Given the description of an element on the screen output the (x, y) to click on. 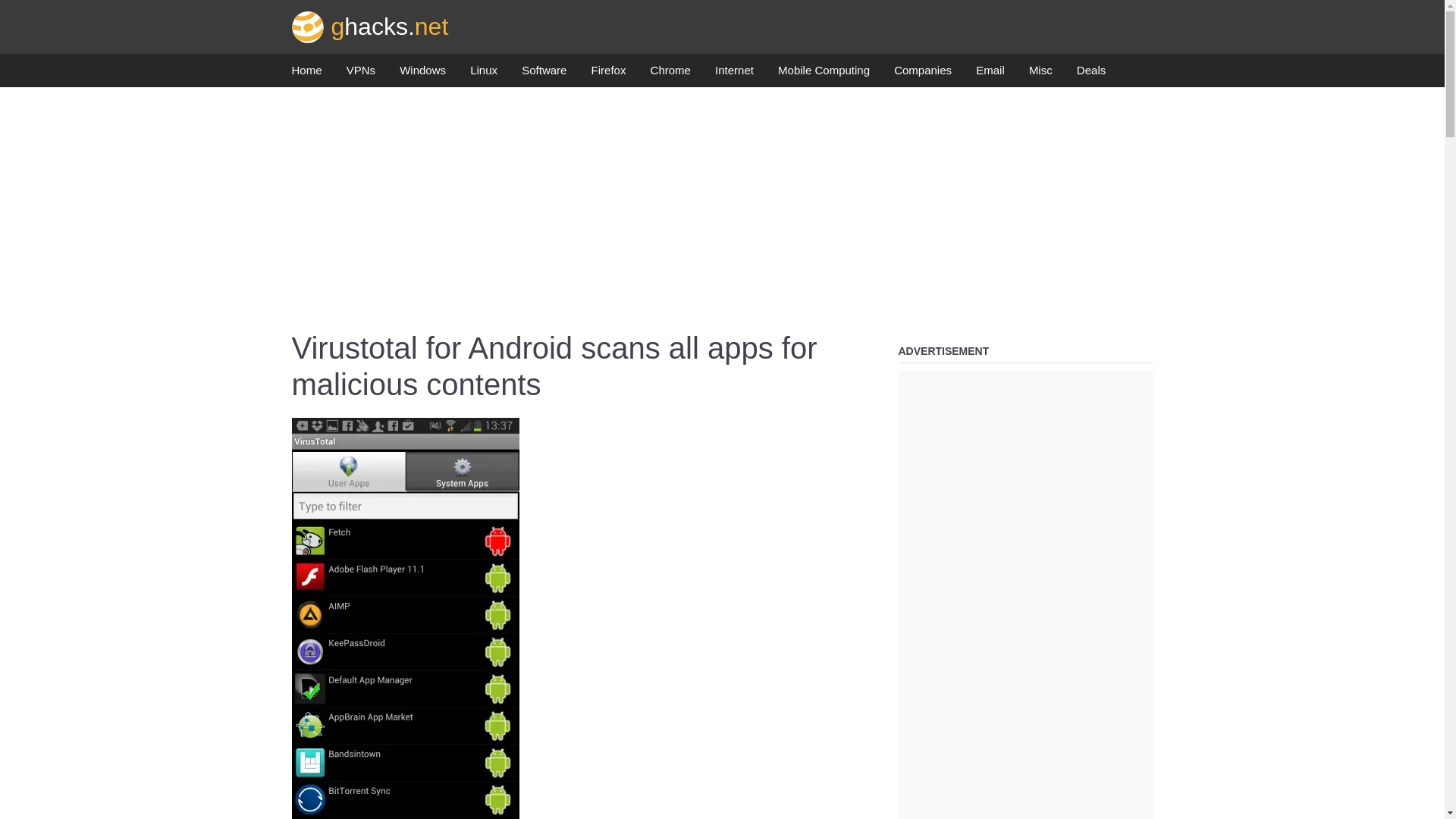
Email (989, 73)
Home (306, 73)
Chrome (670, 73)
Linux (483, 73)
ghacks.net (369, 26)
Firefox (608, 73)
Windows (421, 73)
Software (543, 73)
Deals (1091, 73)
VPNs (360, 73)
Companies (922, 73)
Mobile Computing (823, 73)
Misc (1040, 73)
Internet (734, 73)
